Given the description of an element on the screen output the (x, y) to click on. 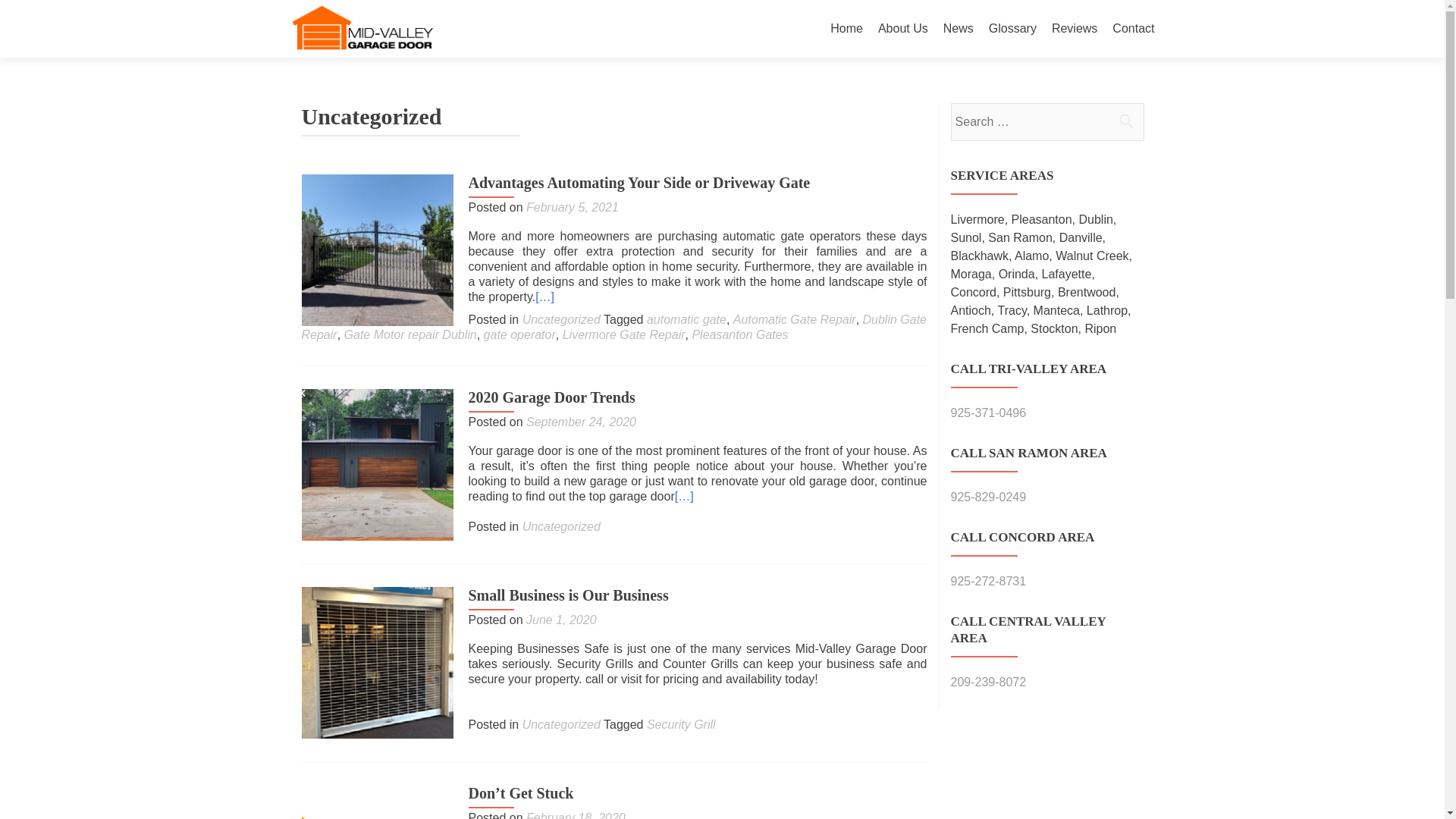
Pleasanton Gates (739, 334)
Uncategorized (560, 526)
Search (1125, 120)
Livermore Gate Repair (623, 334)
2020 Garage Door Trends (551, 397)
Advantages Automating Your Side or Driveway Gate (639, 182)
Uncategorized (560, 724)
Uncategorized (560, 318)
About Us (902, 28)
February 5, 2021 (571, 206)
Home (846, 28)
Glossary (1012, 28)
Small Business is Our Business (568, 595)
Dublin Gate Repair (614, 326)
September 24, 2020 (580, 421)
